Given the description of an element on the screen output the (x, y) to click on. 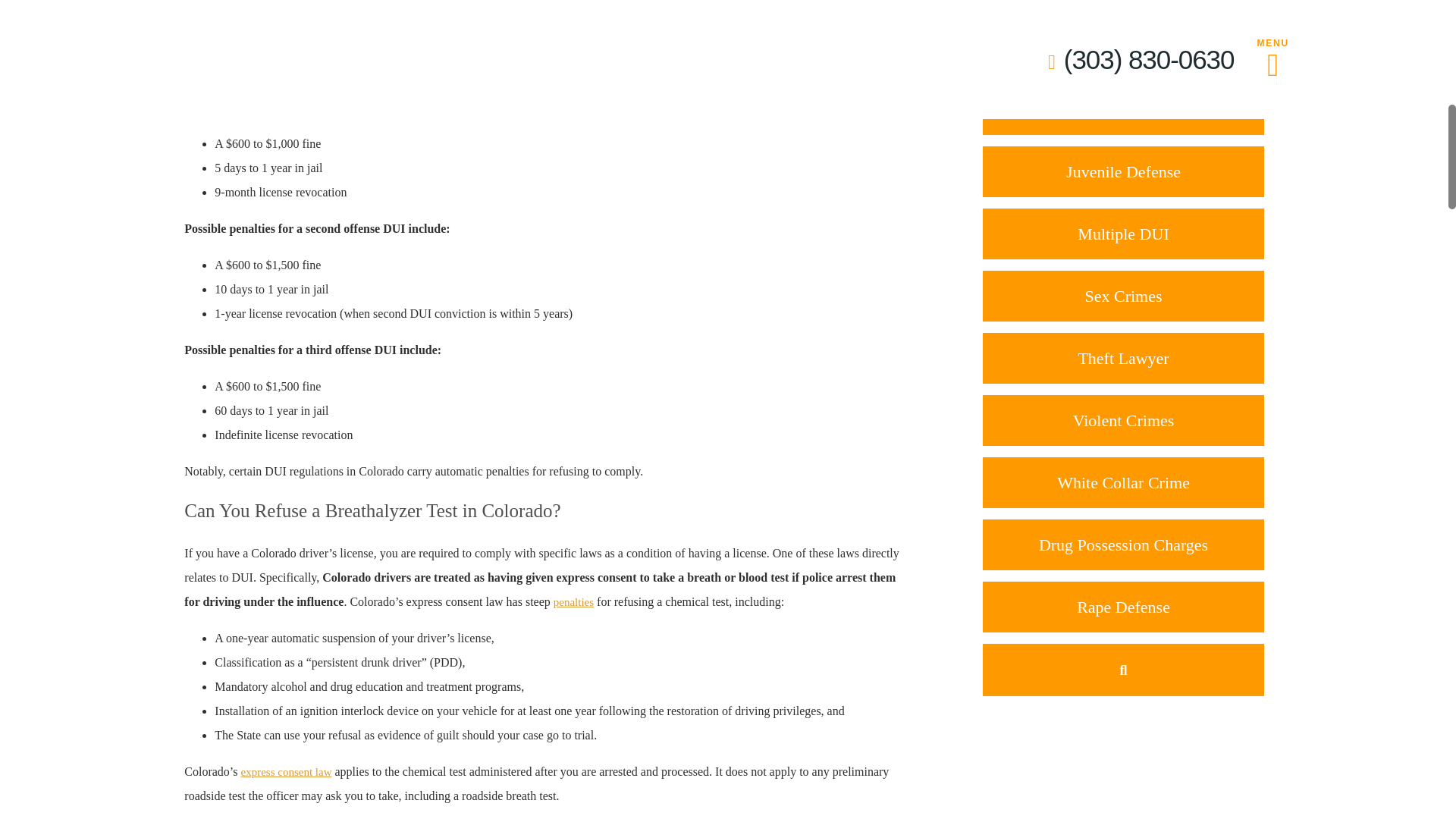
express consent law (286, 771)
penalties (573, 602)
Colorado DUI laws (260, 22)
